Given the description of an element on the screen output the (x, y) to click on. 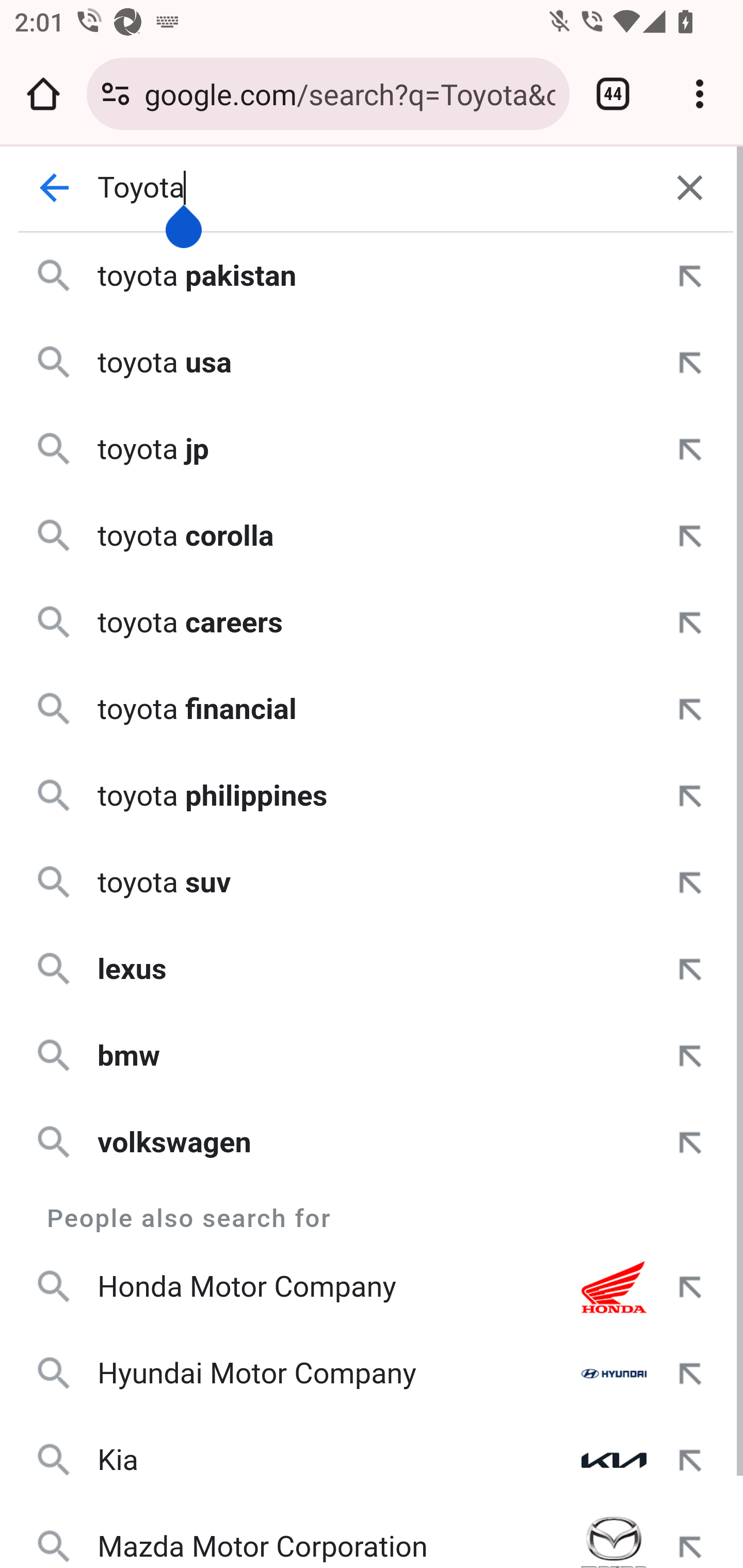
Open the home page (43, 93)
Connection is secure (115, 93)
Switch or close tabs (612, 93)
Customize and control Google Chrome (699, 93)
Back (54, 188)
Clear Search (690, 188)
Toyota (372, 188)
